Given the description of an element on the screen output the (x, y) to click on. 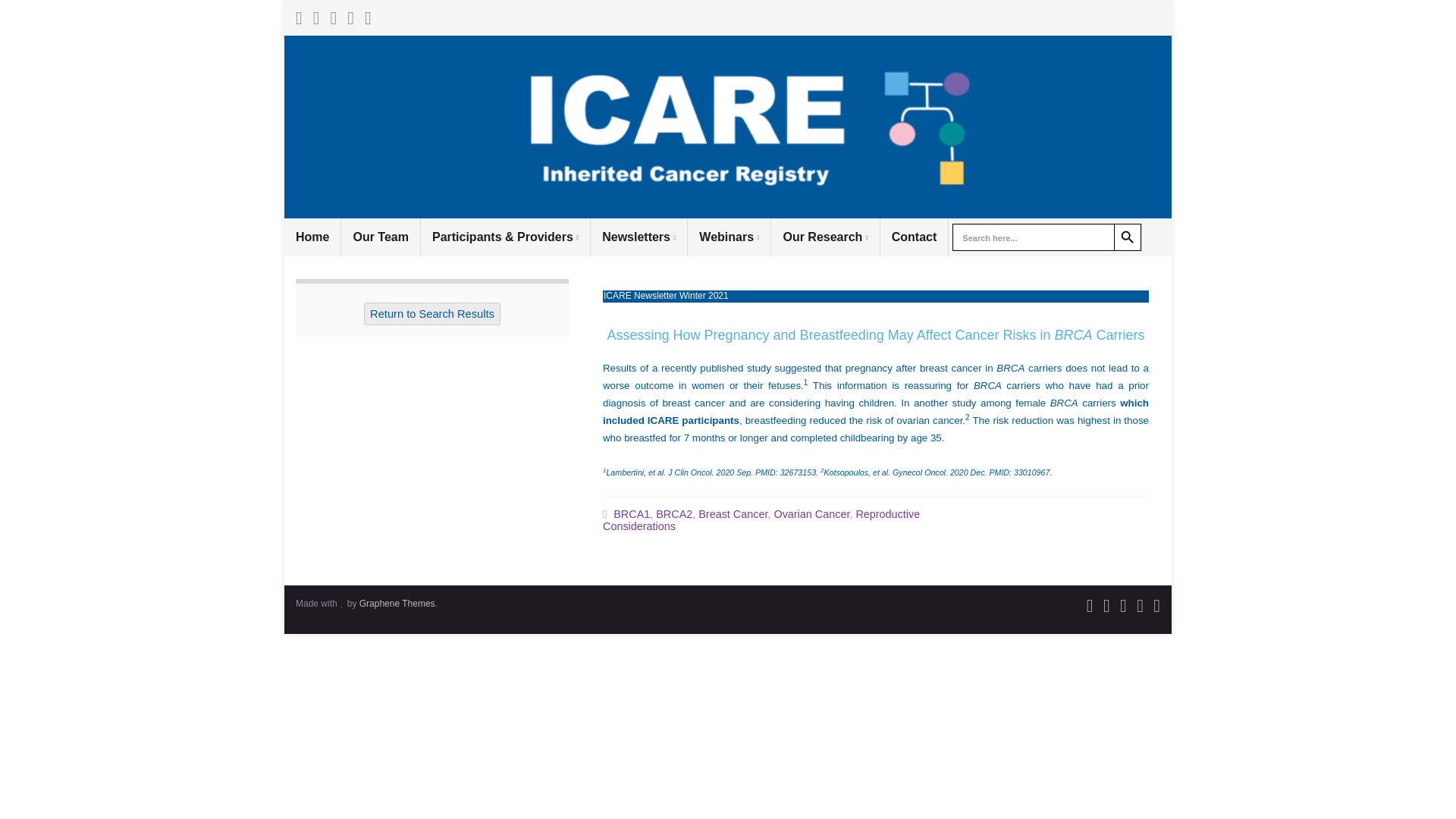
Webinars (728, 237)
Our Research (825, 237)
BRCA1 (630, 513)
BRCA2 (674, 513)
Search Button (1127, 236)
Contact (914, 237)
Breast Cancer (732, 513)
Newsletters (639, 237)
Our Team (380, 237)
Home (311, 237)
Ovarian Cancer (810, 513)
